Given the description of an element on the screen output the (x, y) to click on. 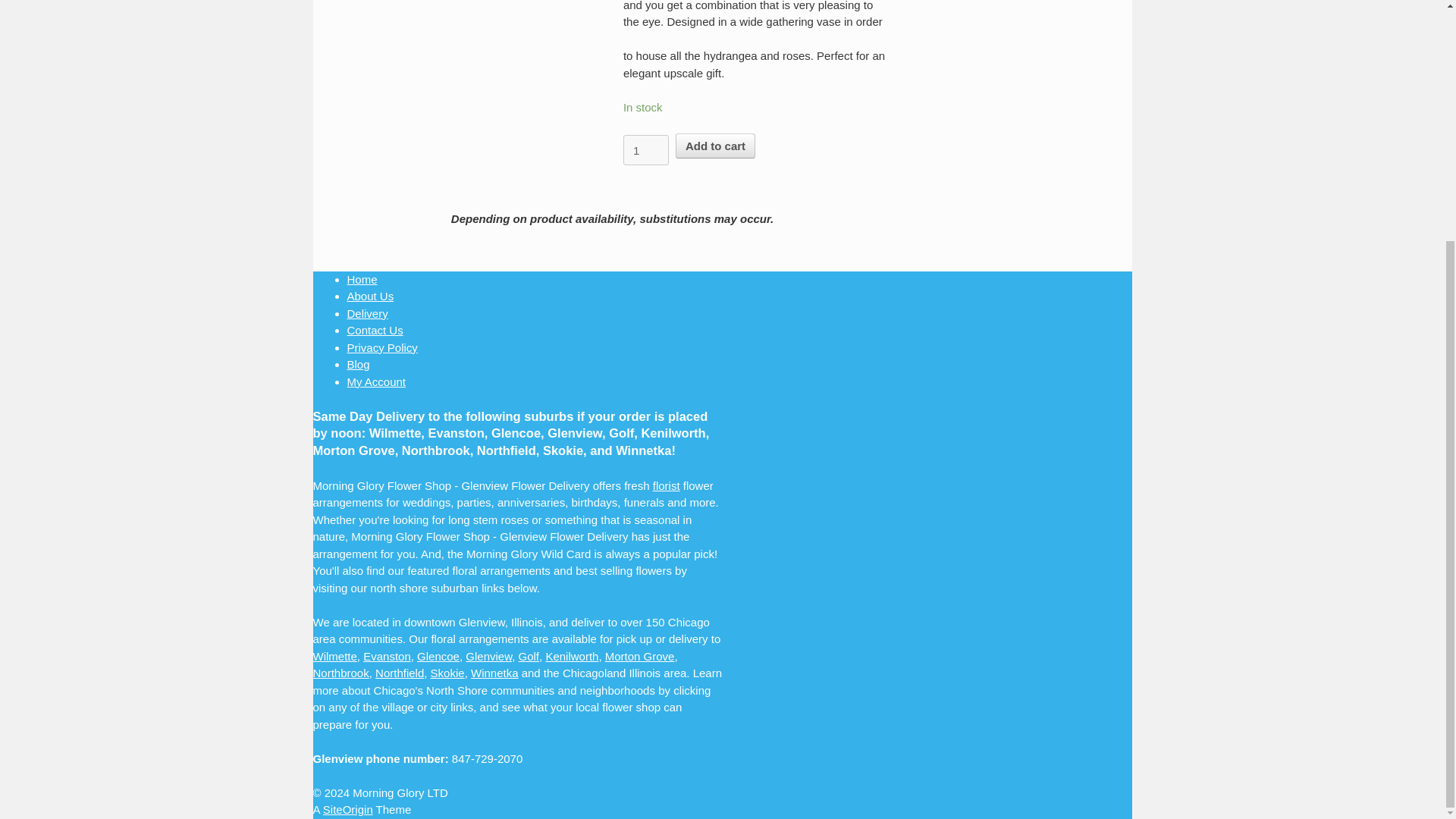
florist (665, 485)
Wilmette (334, 656)
Golf (529, 656)
My Account (376, 381)
Contact Us (375, 329)
Privacy Policy (382, 347)
1 (645, 150)
Evanston (386, 656)
Northfield (399, 672)
Skokie (447, 672)
